Given the description of an element on the screen output the (x, y) to click on. 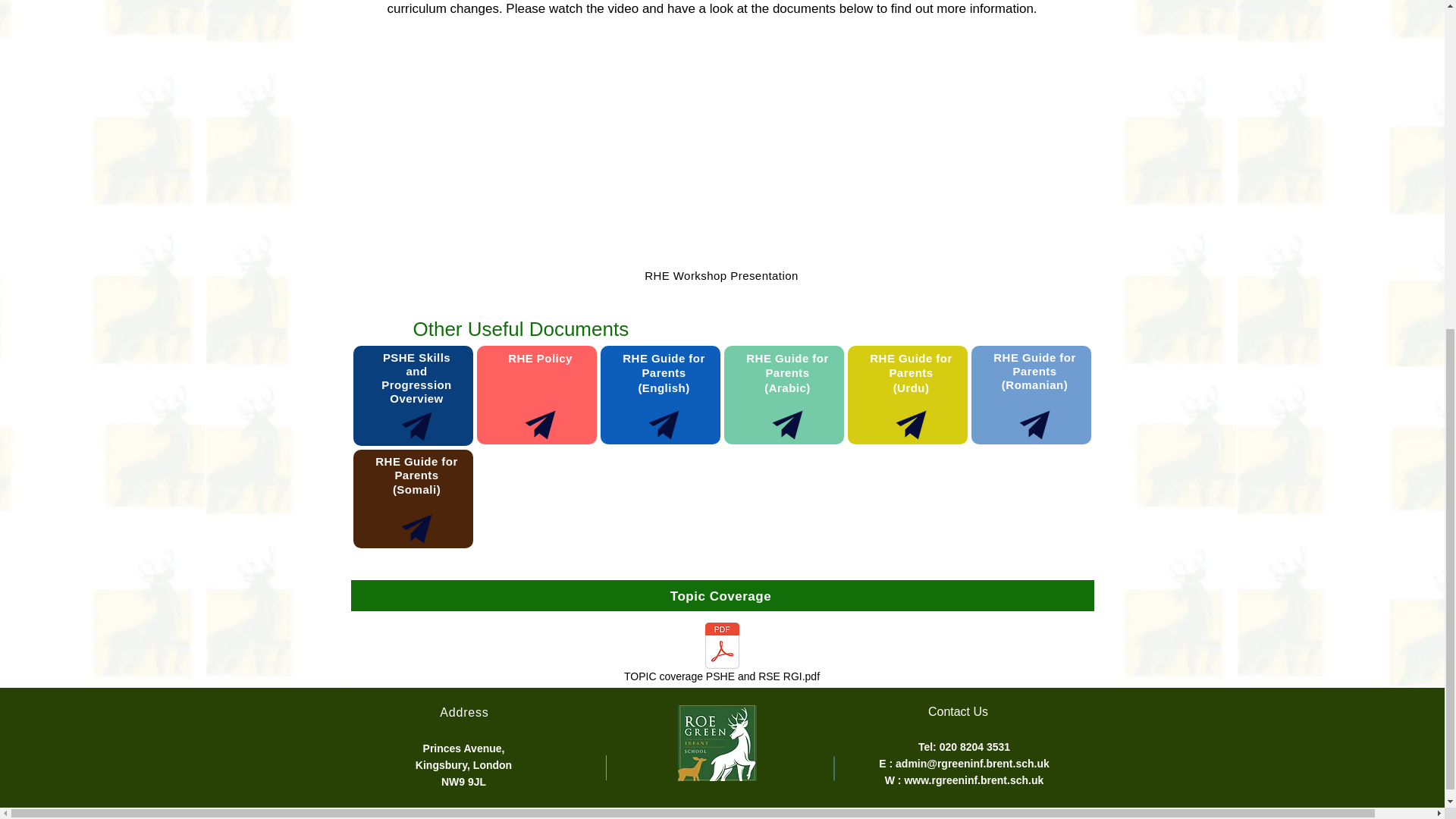
TOPIC coverage PSHE and RSE RGI.pdf (721, 654)
TOPIC coverage PSHE and RSE RGI.pdf (721, 654)
